Given the description of an element on the screen output the (x, y) to click on. 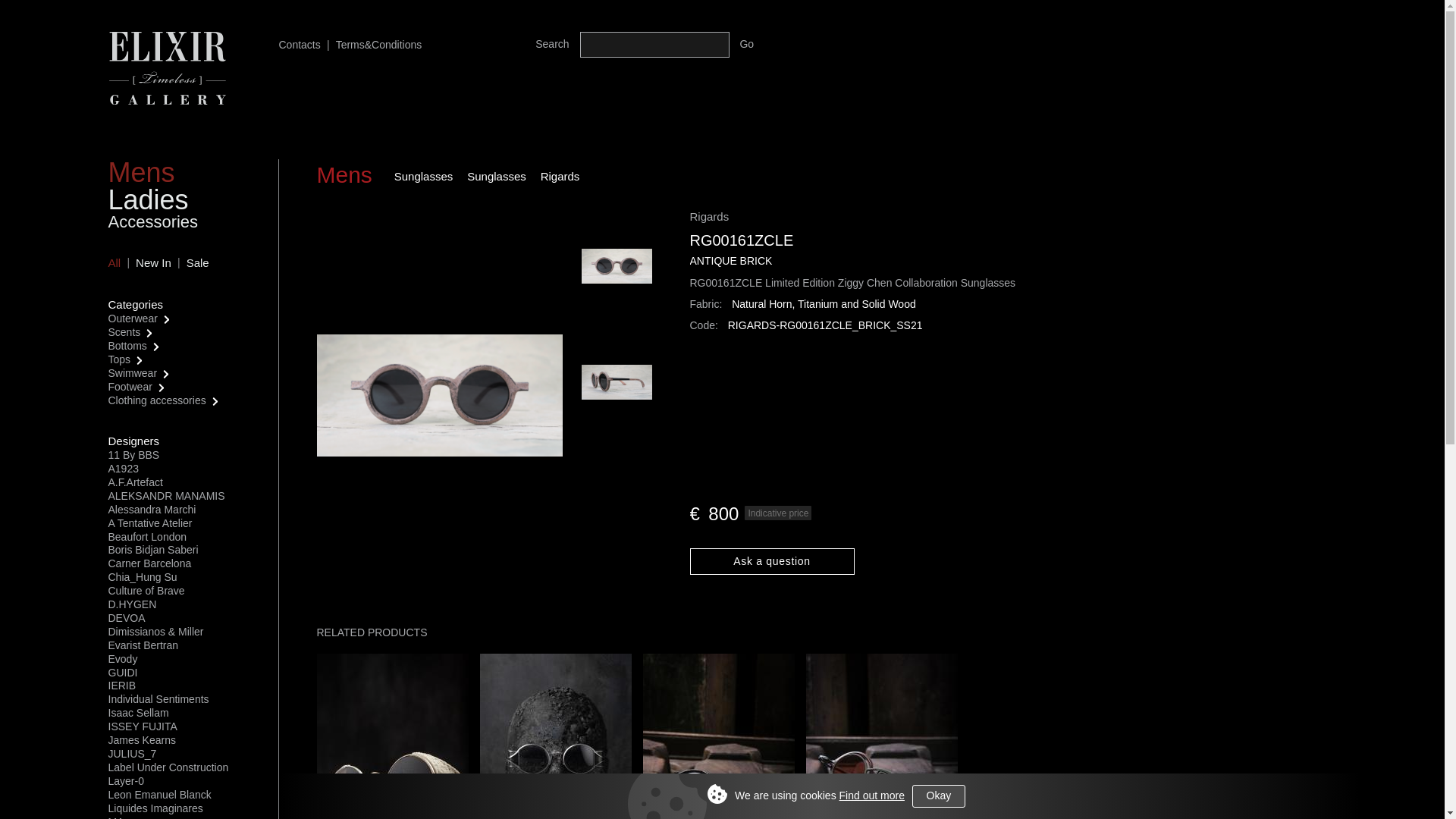
Footwear (129, 386)
Swimwear (132, 372)
Tops (119, 358)
Bottoms (127, 345)
All (113, 262)
Mens (140, 172)
New In (153, 262)
Outerwear (132, 318)
Okay (938, 795)
Accessories (152, 221)
